Given the description of an element on the screen output the (x, y) to click on. 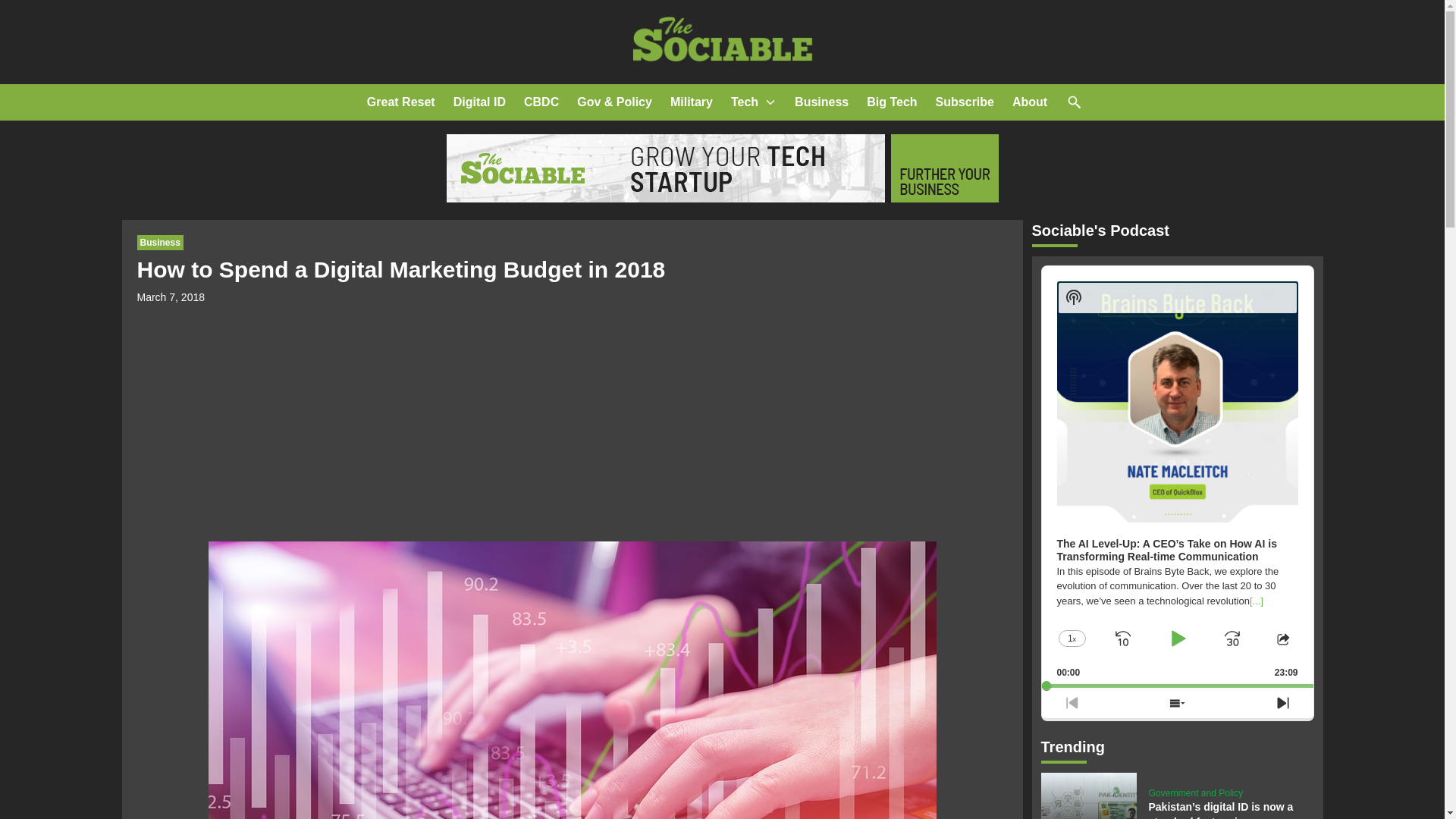
Subscribe (965, 102)
Business (159, 242)
Big Tech (891, 102)
About (1028, 102)
Tech (744, 102)
Military (691, 102)
CBDC (541, 102)
Great Reset (400, 102)
Digital ID (478, 102)
